Given the description of an element on the screen output the (x, y) to click on. 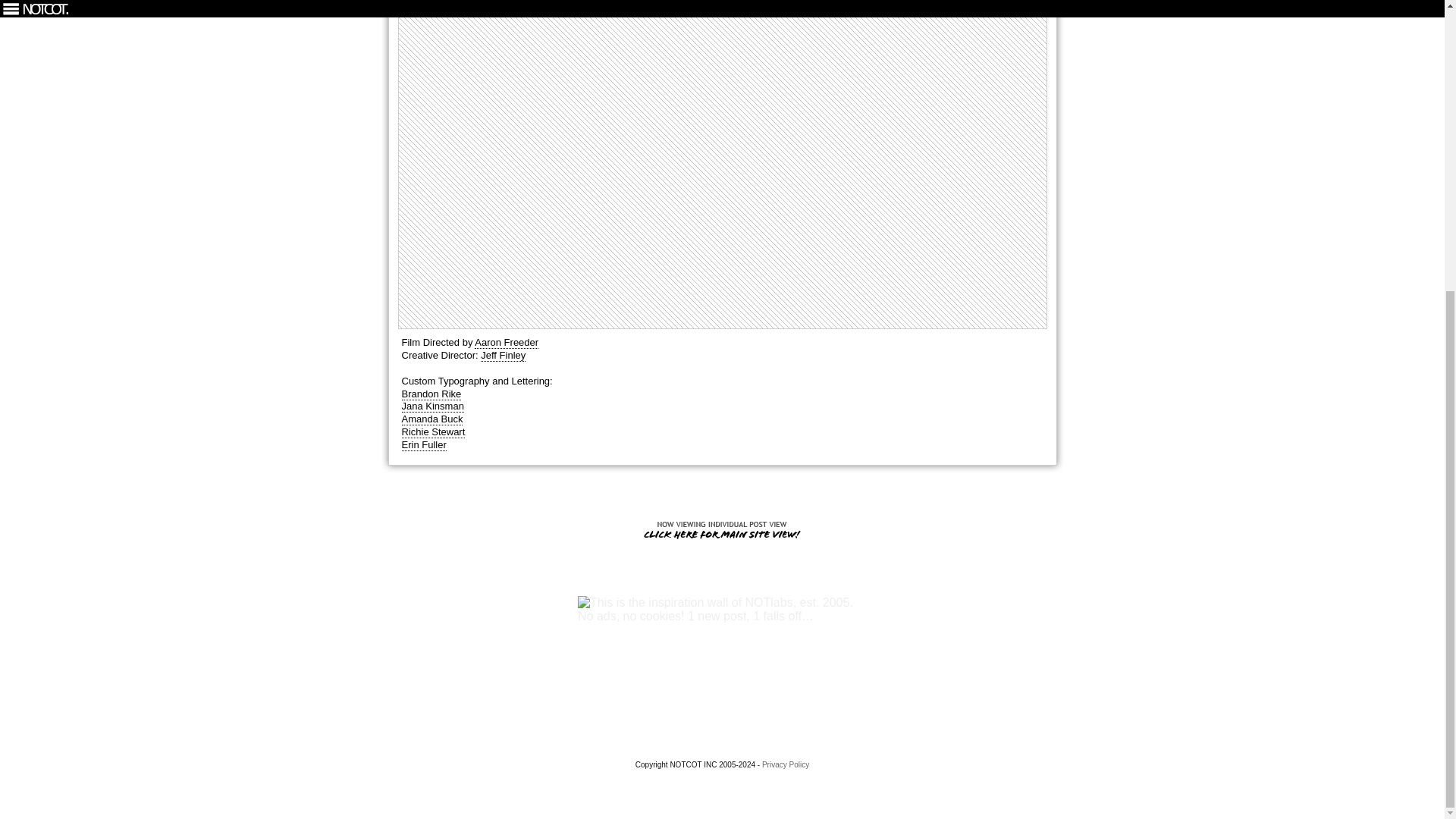
Jana Kinsman (432, 406)
Jeff Finley (502, 355)
Aaron Freeder (506, 342)
Amanda Buck (432, 419)
Erin Fuller (423, 444)
Brandon Rike (431, 394)
Privacy Policy (785, 764)
Richie Stewart (433, 431)
